Given the description of an element on the screen output the (x, y) to click on. 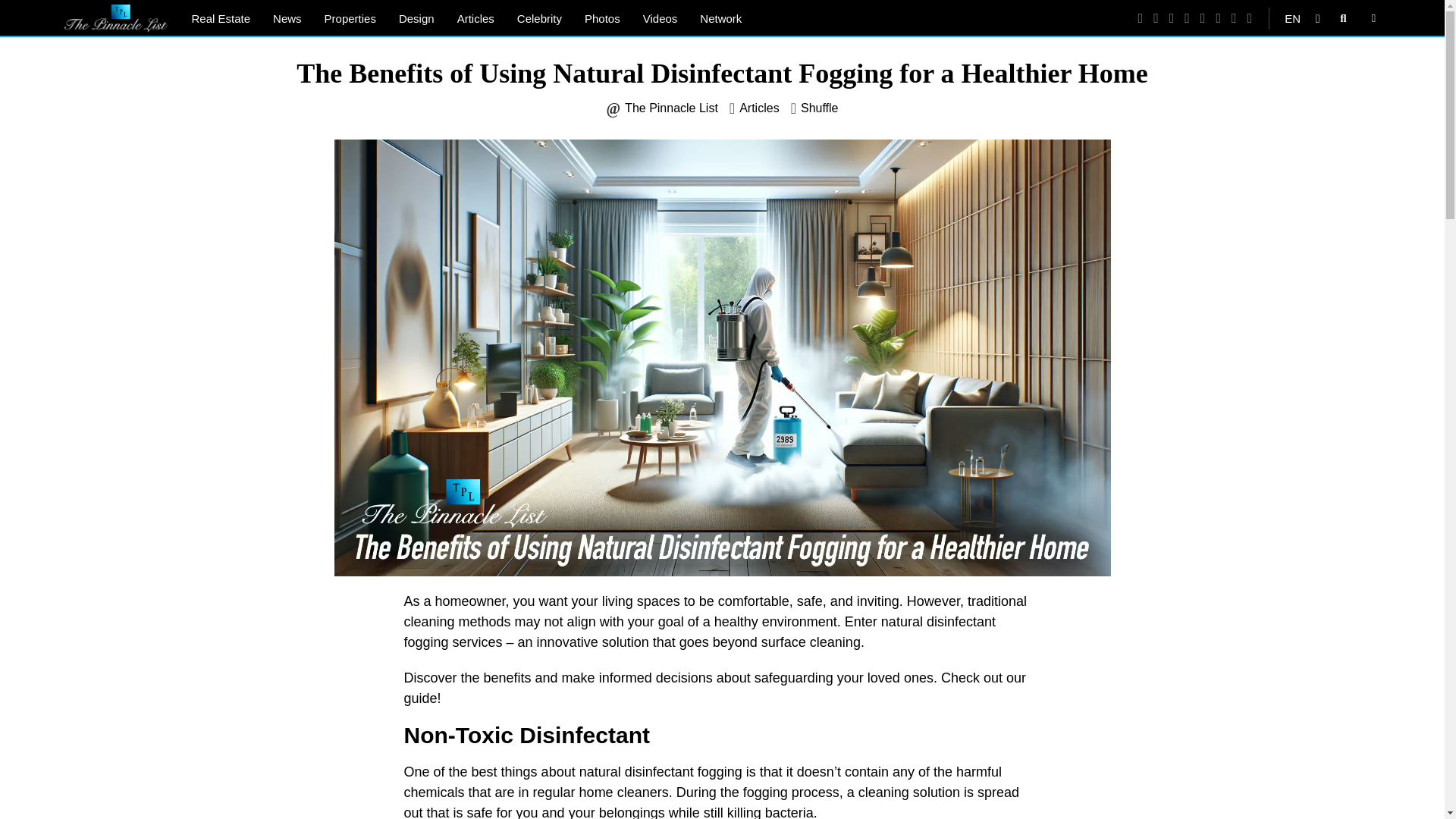
Videos (659, 18)
Articles (758, 107)
Design (416, 18)
Network (720, 18)
Posts by The Pinnacle List (670, 107)
Celebrity (539, 18)
Articles (475, 18)
Photos (602, 18)
Real Estate (221, 18)
News (287, 18)
Properties (350, 18)
